Given the description of an element on the screen output the (x, y) to click on. 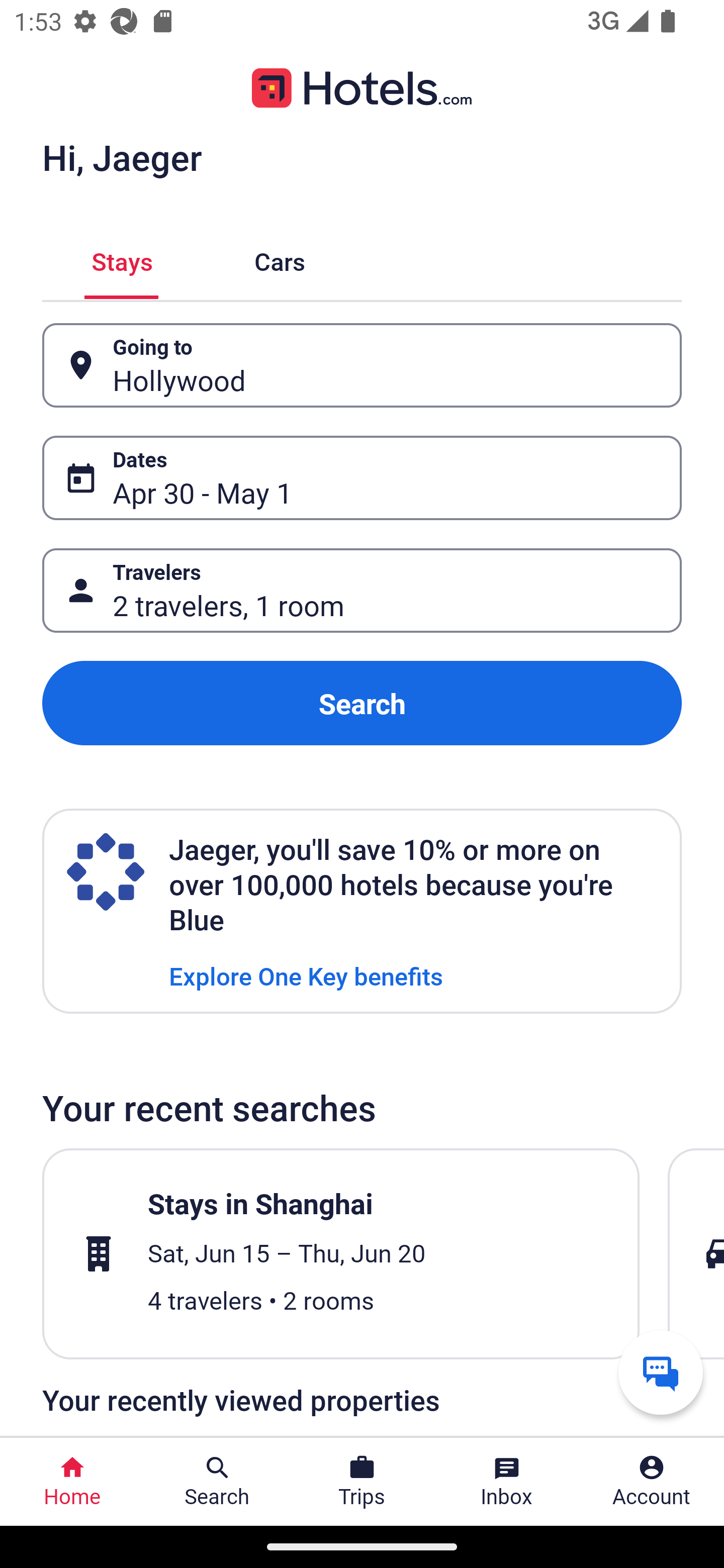
Hi, Jaeger (121, 156)
Cars (279, 259)
Going to Button Hollywood (361, 365)
Dates Button Apr 30 - May 1 (361, 477)
Travelers Button 2 travelers, 1 room (361, 590)
Search (361, 702)
Get help from a virtual agent (660, 1371)
Search Search Button (216, 1481)
Trips Trips Button (361, 1481)
Inbox Inbox Button (506, 1481)
Account Profile. Button (651, 1481)
